Given the description of an element on the screen output the (x, y) to click on. 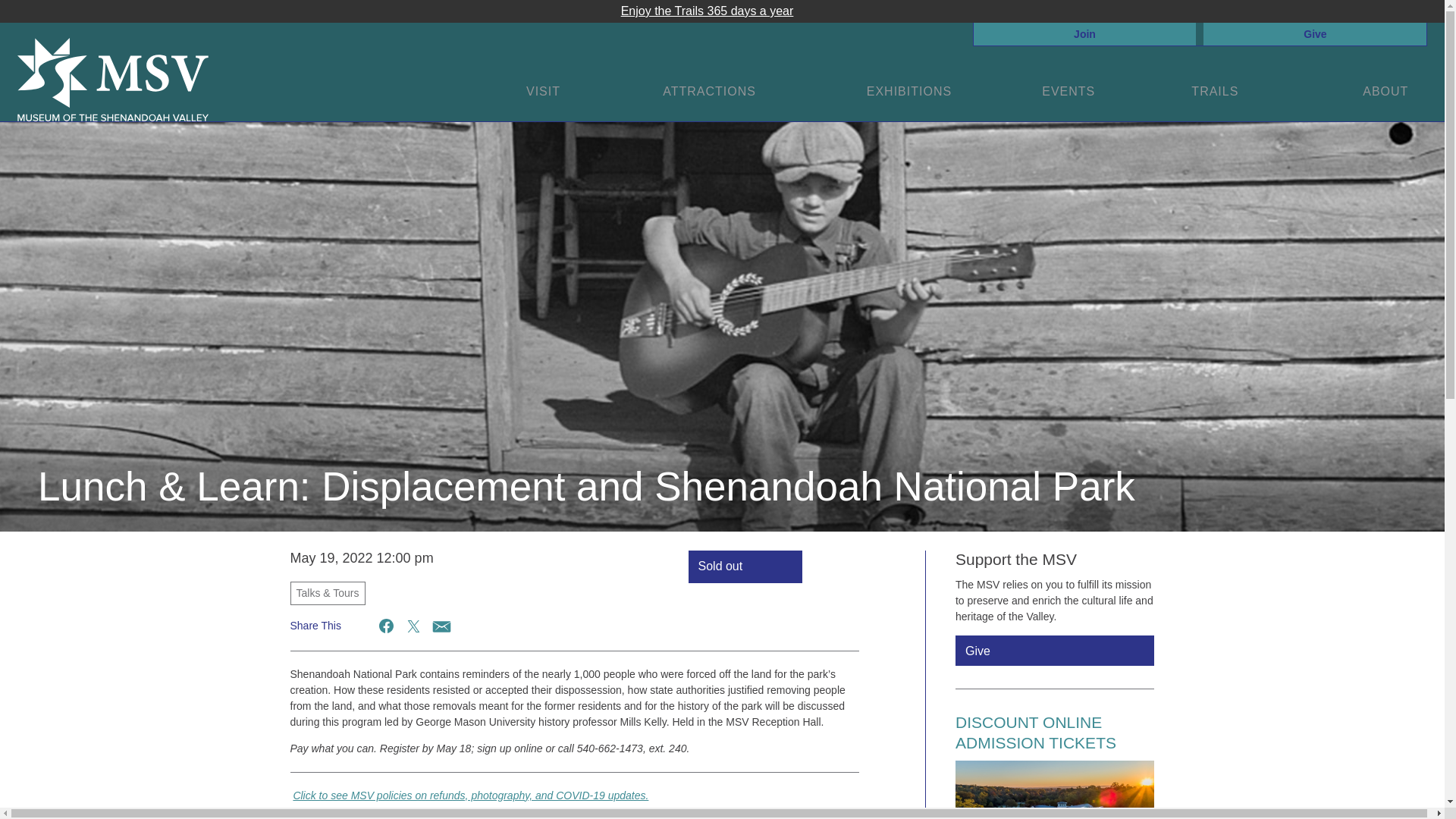
Join (1085, 33)
TRAILS  (1216, 91)
Enjoy the Trails 365 days a year (707, 10)
Share this on Facebook (386, 625)
EXHIBITIONS  (911, 91)
ATTRACTIONS  (711, 91)
Give (1315, 33)
EVENTS  (1070, 91)
Share this via email (439, 625)
VISIT  (544, 91)
Skip to main content (55, 31)
Share this on Twitter (412, 625)
